Given the description of an element on the screen output the (x, y) to click on. 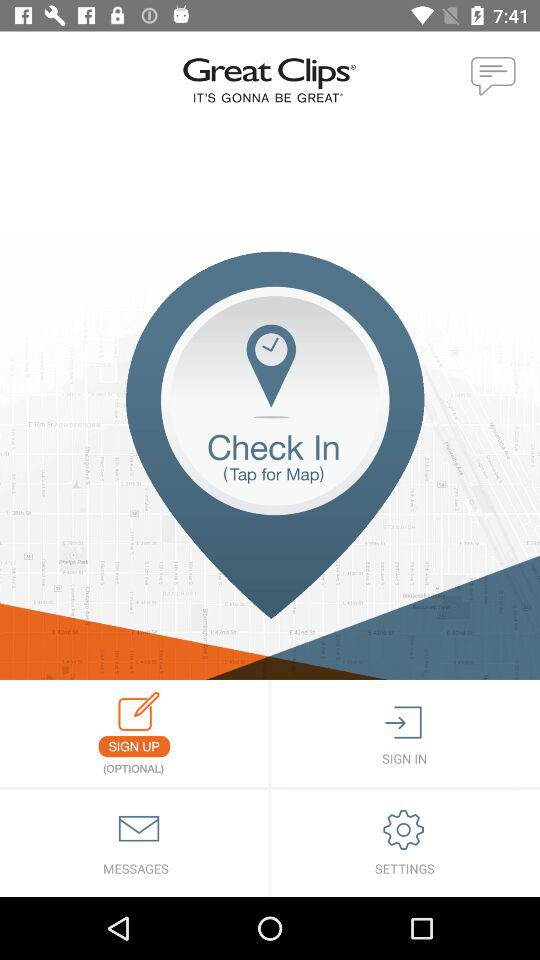
settings (405, 843)
